Given the description of an element on the screen output the (x, y) to click on. 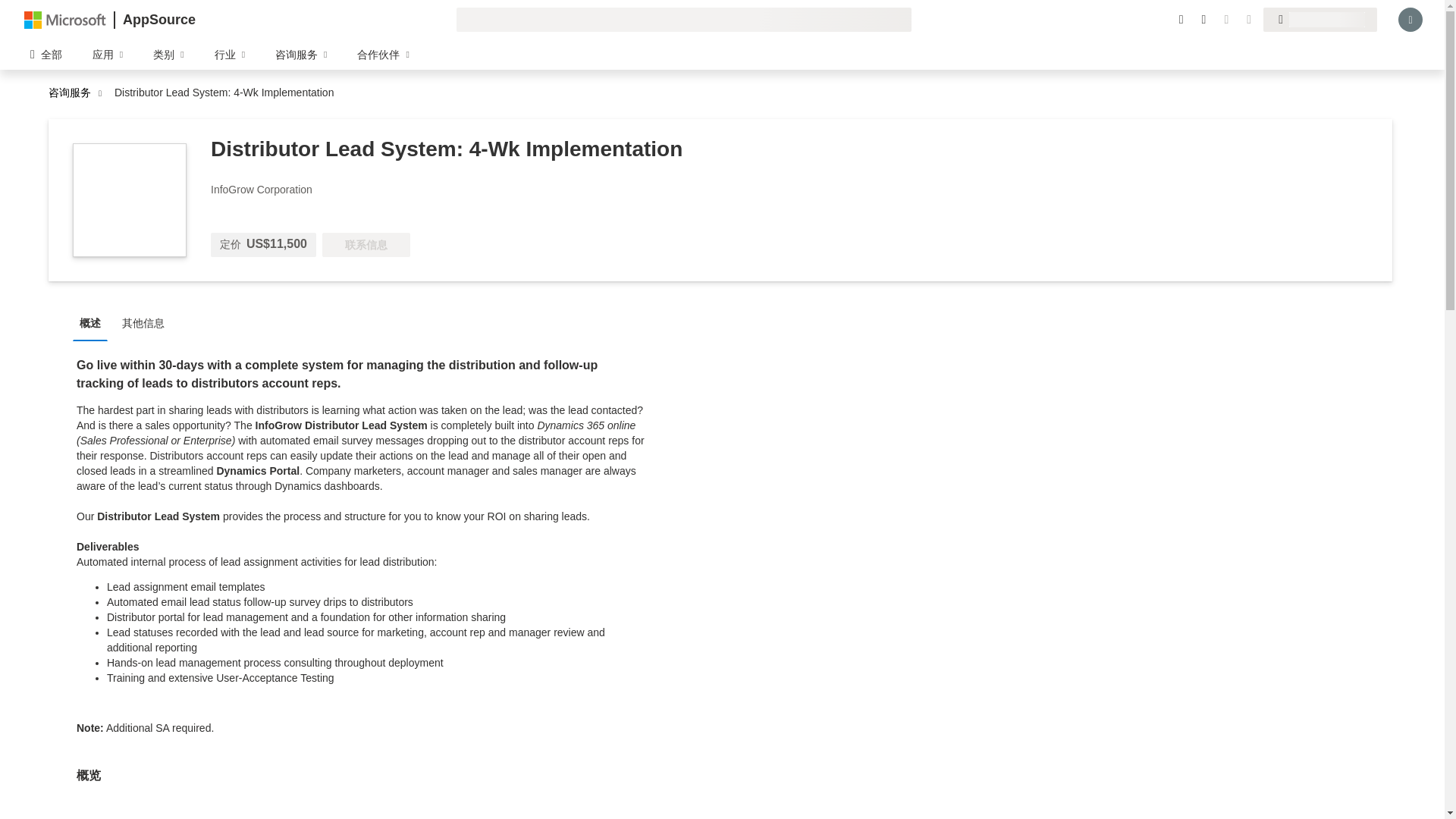
Microsoft (65, 18)
AppSource (158, 19)
